Given the description of an element on the screen output the (x, y) to click on. 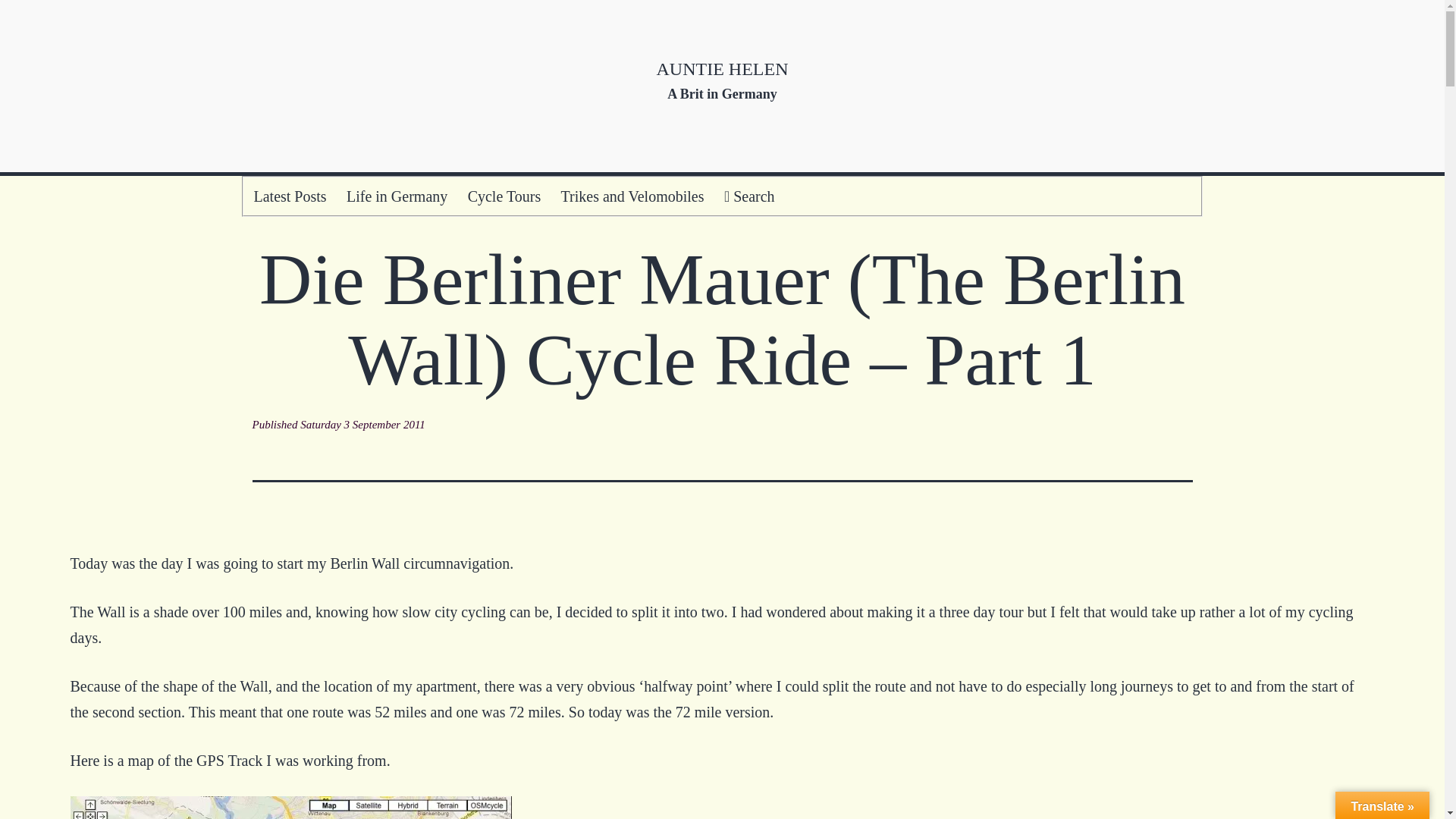
Cycle Tours (503, 196)
Trikes and Velomobiles (631, 196)
Life in Germany (397, 196)
Latest Posts (289, 196)
AUNTIE HELEN (722, 68)
